Given the description of an element on the screen output the (x, y) to click on. 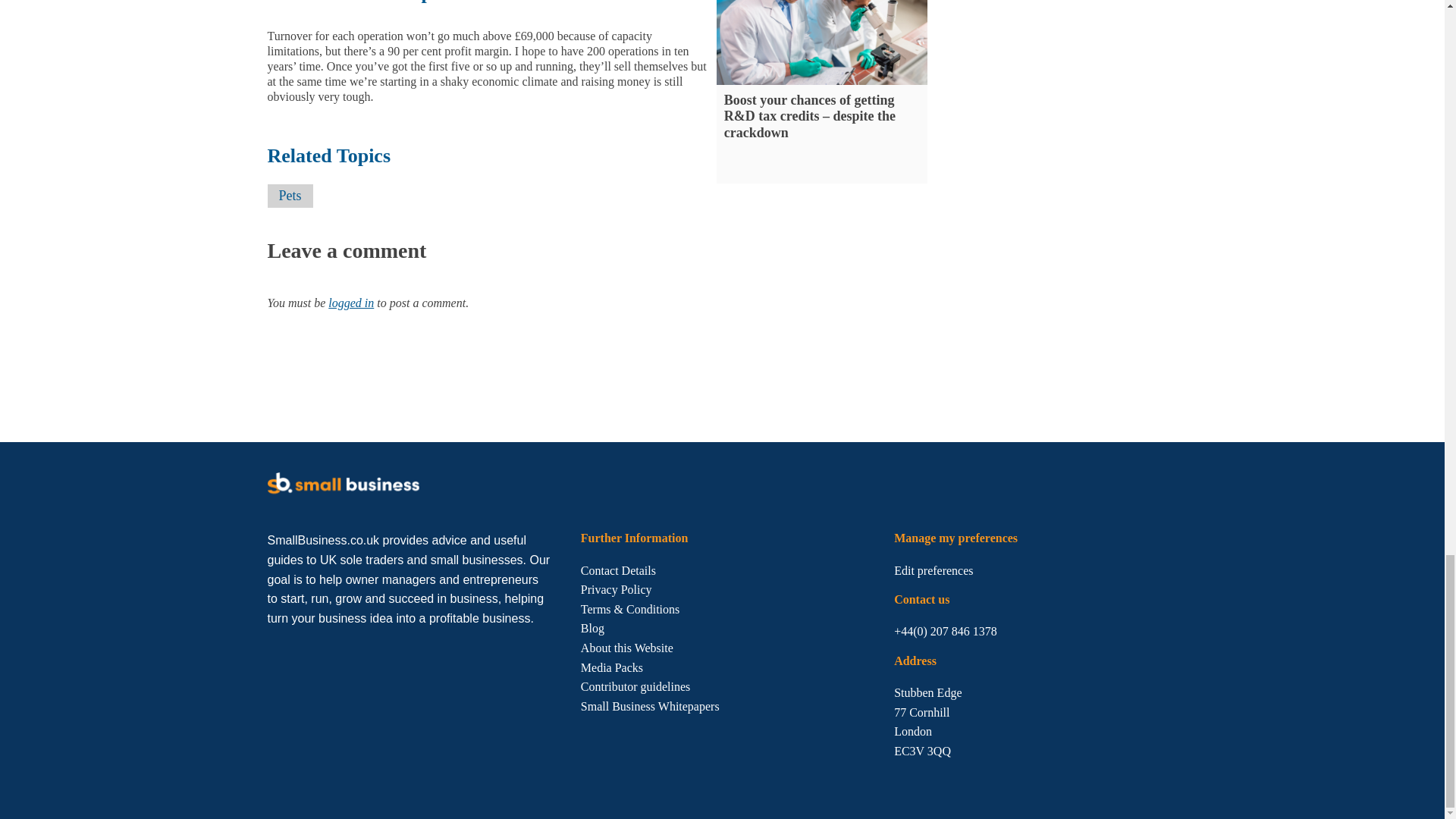
3rd party ad content (542, 377)
